Given the description of an element on the screen output the (x, y) to click on. 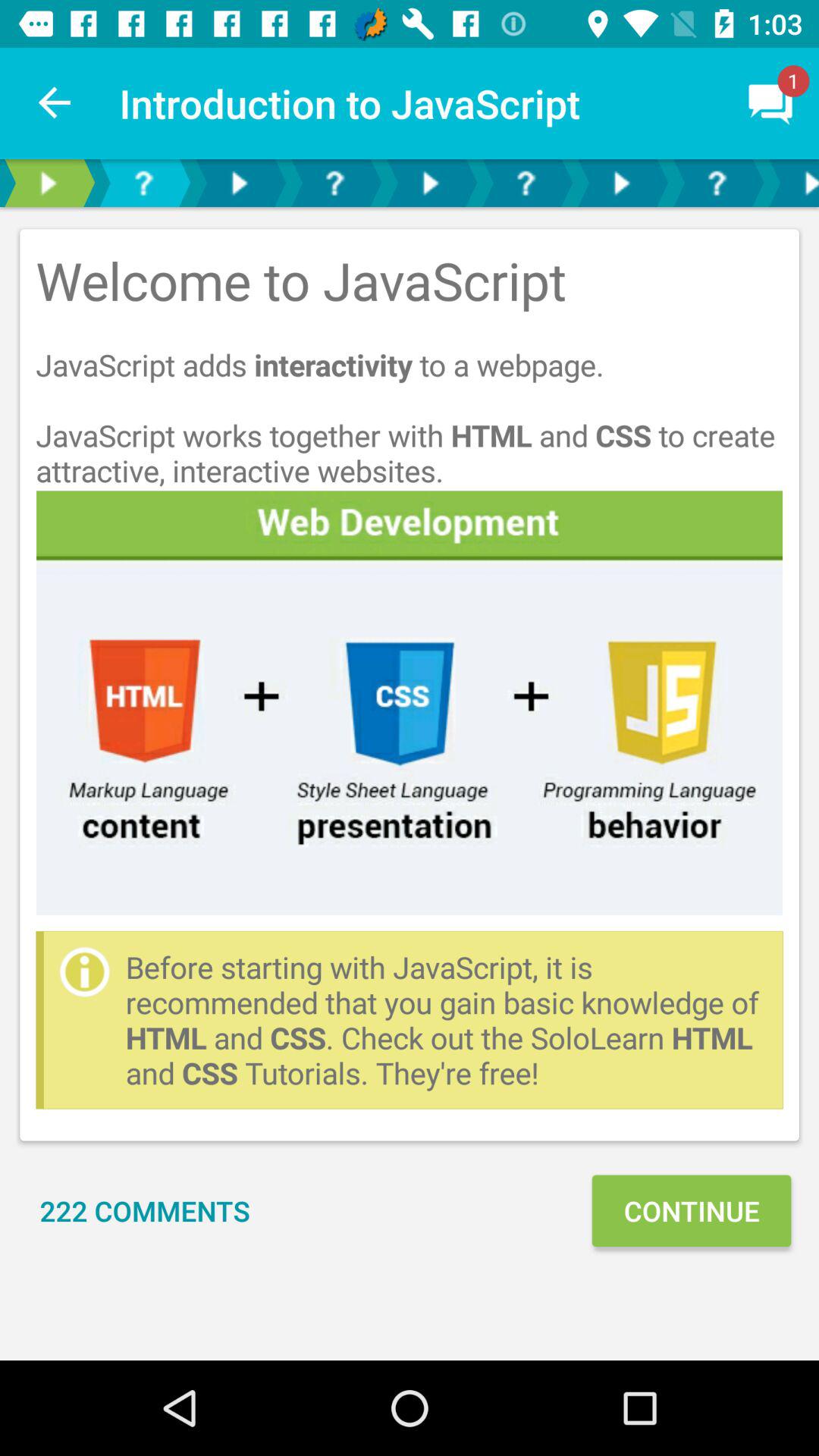
open faqs (143, 183)
